Given the description of an element on the screen output the (x, y) to click on. 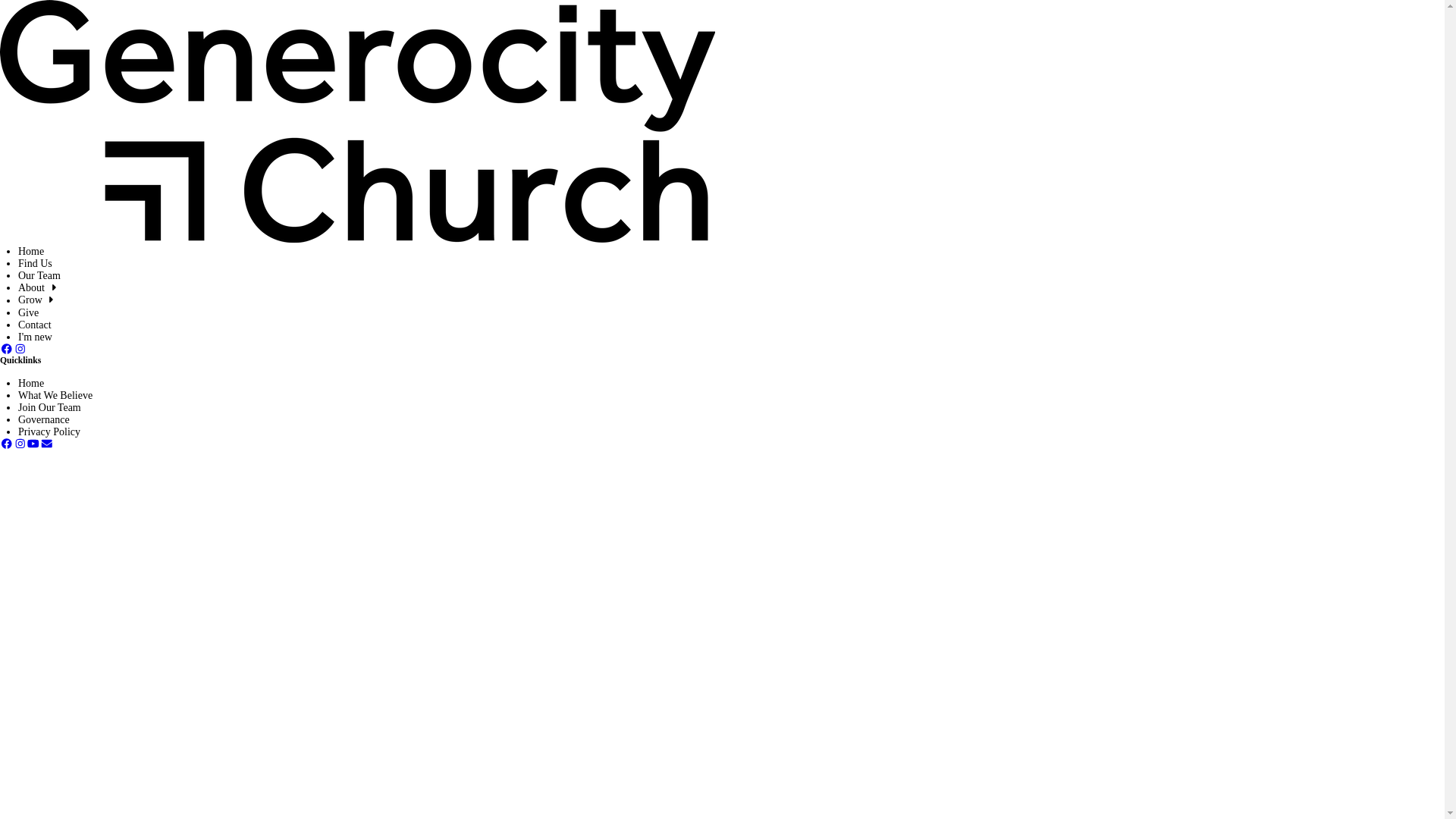
Join Our Team Element type: text (49, 407)
Privacy Policy Element type: text (49, 431)
What We Believe Element type: text (55, 395)
I'm new Element type: text (35, 336)
Contact Element type: text (34, 323)
Give Element type: text (28, 311)
Home Element type: text (30, 383)
Governance Element type: text (43, 419)
About Element type: text (39, 287)
Our Team Element type: text (39, 275)
Grow Element type: text (38, 299)
Home Element type: text (30, 251)
Find Us Element type: text (35, 263)
